Given the description of an element on the screen output the (x, y) to click on. 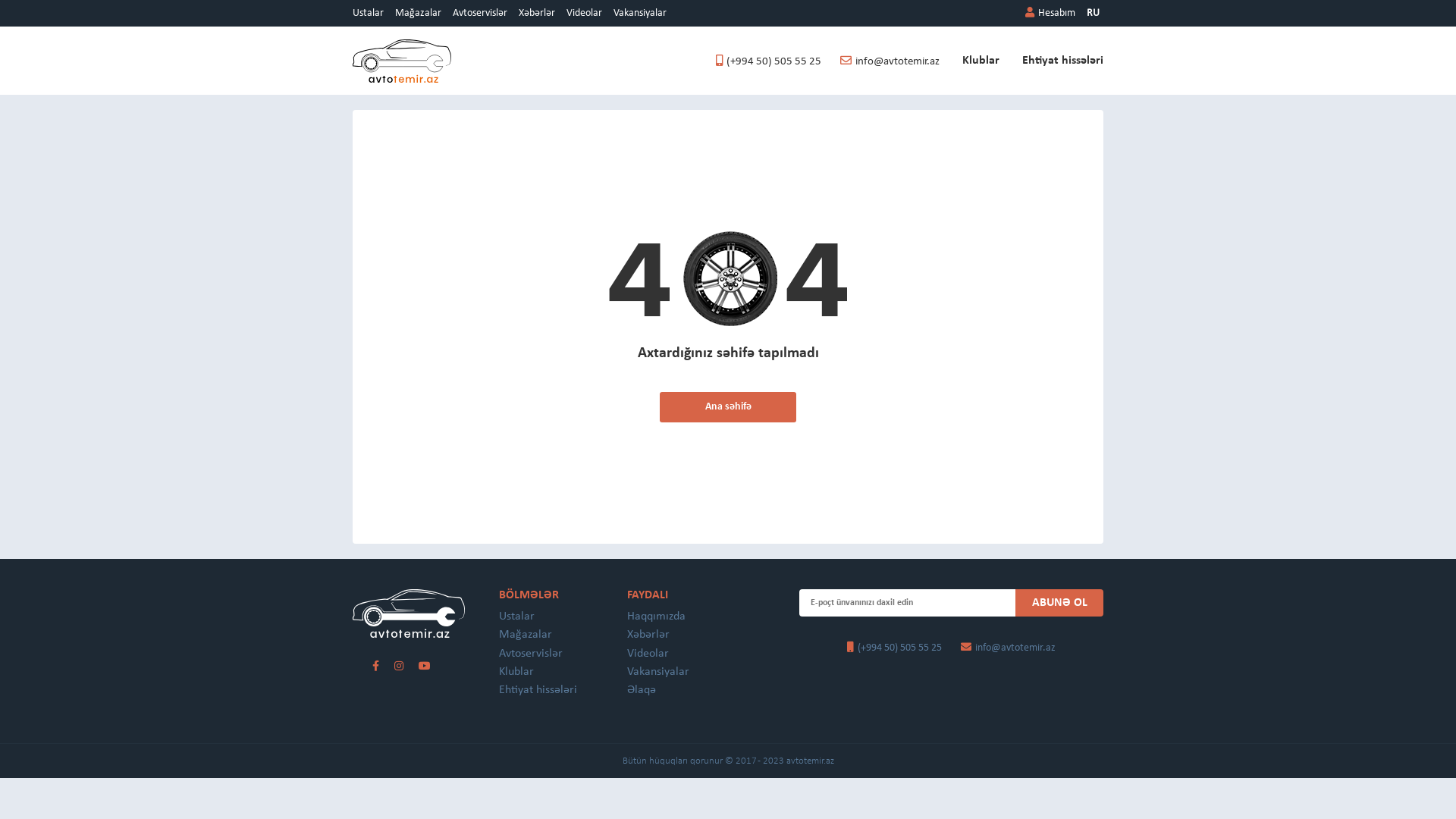
Videolar Element type: text (584, 13)
Vakansiyalar Element type: text (658, 671)
Vakansiyalar Element type: text (639, 13)
RU Element type: text (1092, 13)
Videolar Element type: text (647, 653)
Klublar Element type: text (980, 60)
Klublar Element type: text (515, 671)
Ustalar Element type: text (367, 13)
Ustalar Element type: text (516, 616)
